Given the description of an element on the screen output the (x, y) to click on. 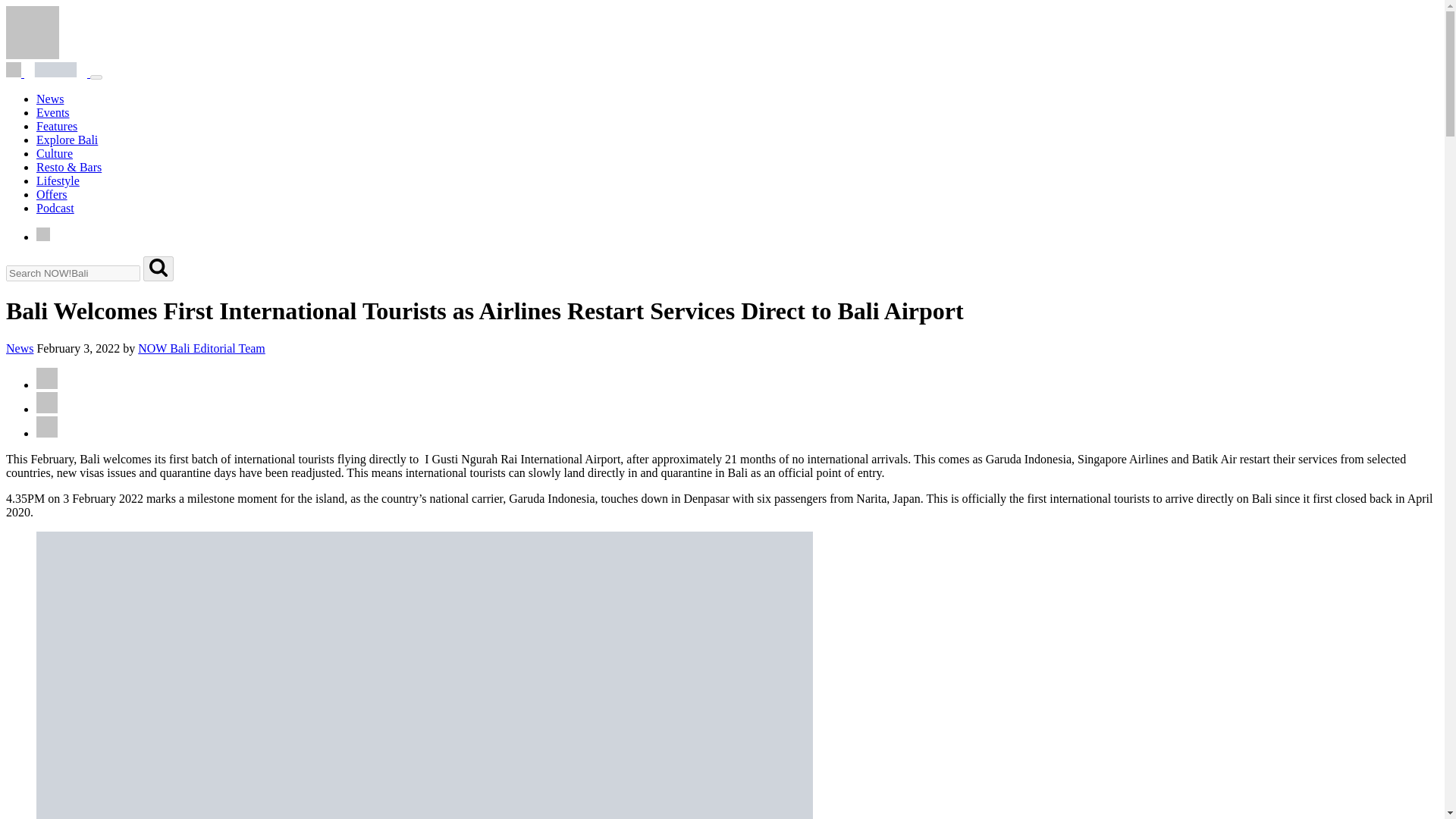
Explore Bali (66, 139)
Lifestyle (58, 180)
NOW Bali Editorial Team (201, 348)
Events (52, 112)
Culture (54, 153)
Podcast (55, 207)
Offers (51, 194)
News (19, 348)
Features (56, 125)
News (50, 98)
